Given the description of an element on the screen output the (x, y) to click on. 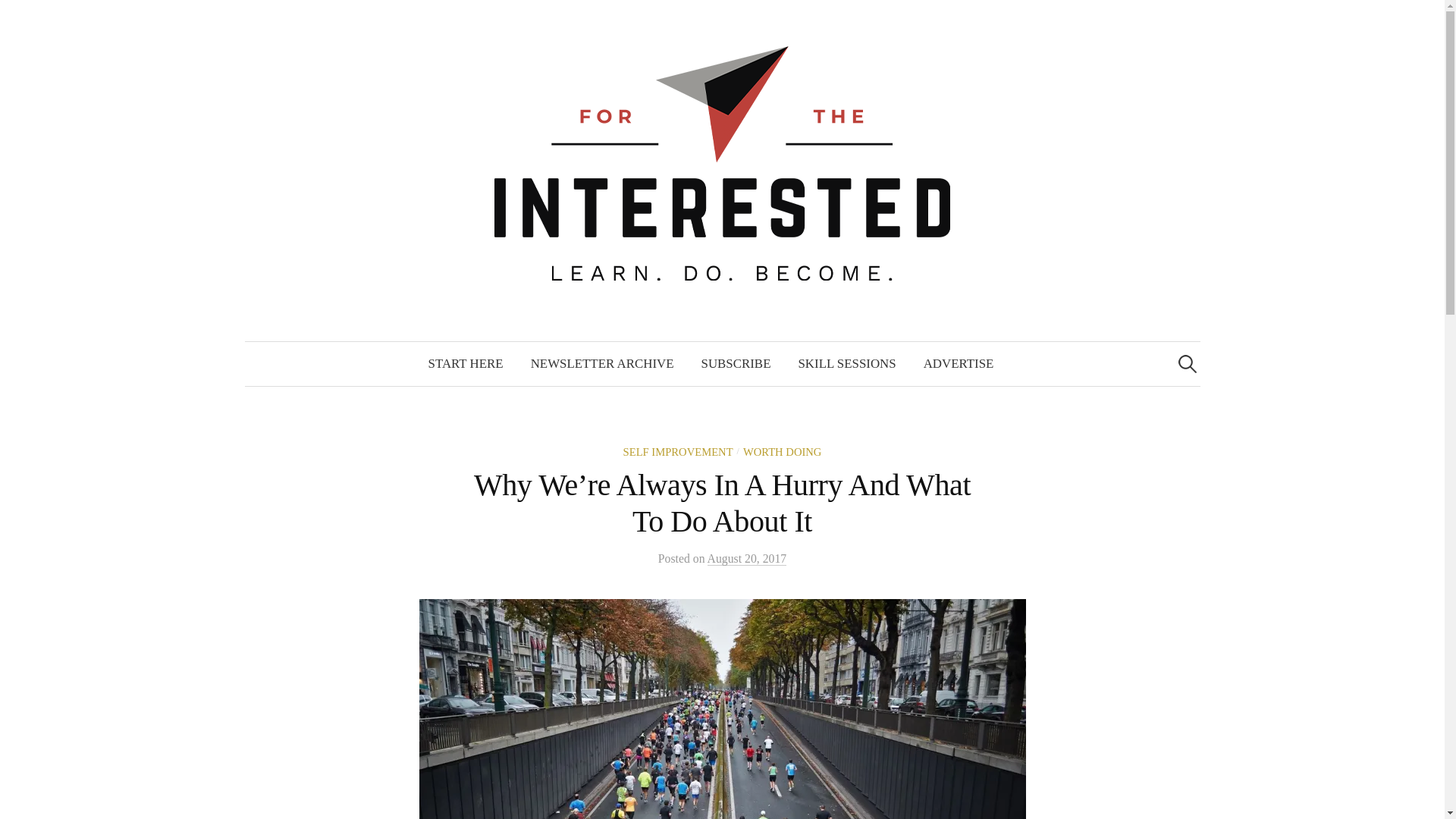
SKILL SESSIONS (846, 363)
NEWSLETTER ARCHIVE (601, 363)
ADVERTISE (958, 363)
START HERE (465, 363)
August 20, 2017 (747, 558)
Search (18, 18)
SUBSCRIBE (735, 363)
WORTH DOING (782, 451)
SELF IMPROVEMENT (678, 451)
